Given the description of an element on the screen output the (x, y) to click on. 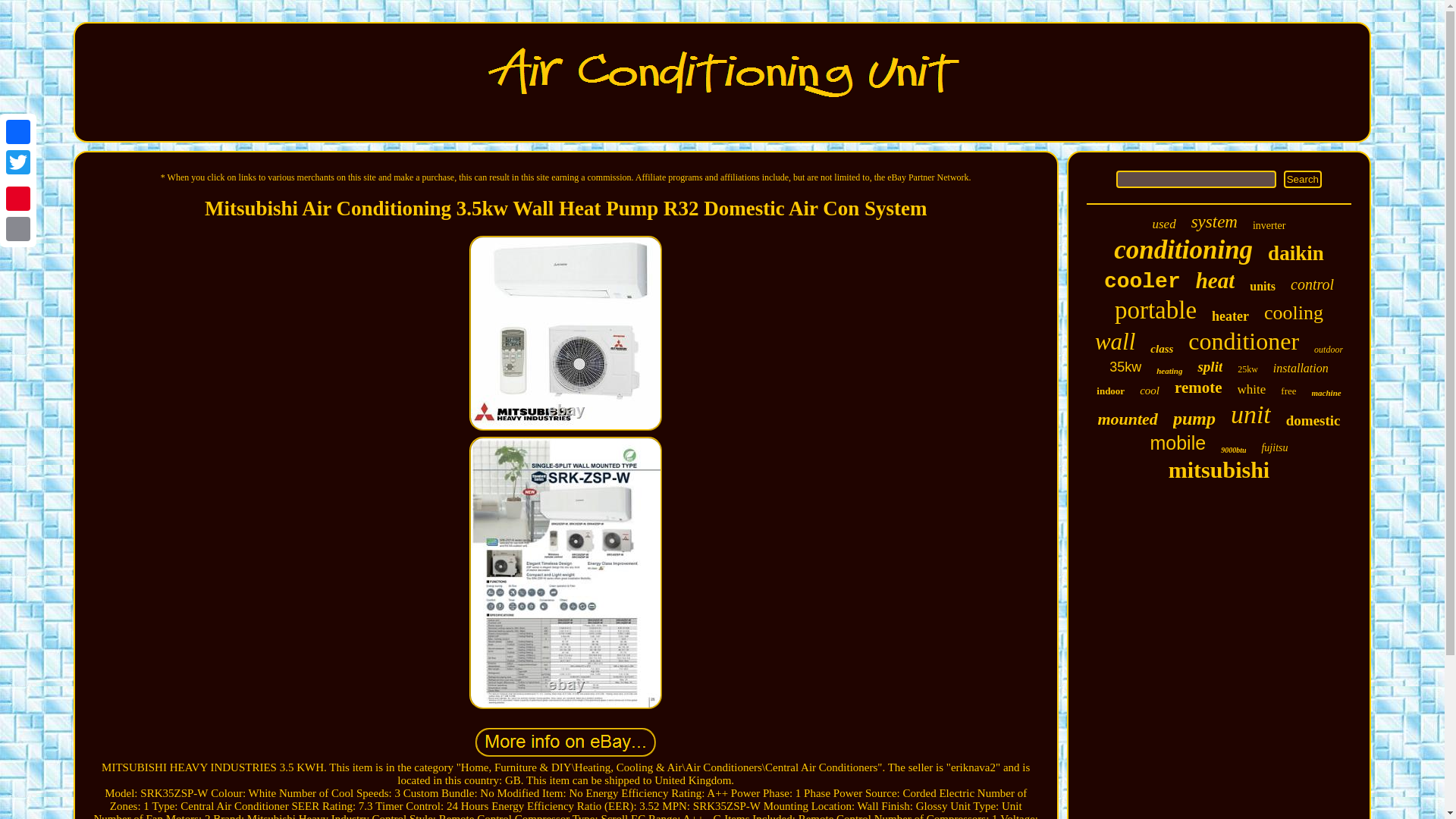
Facebook (17, 132)
used (1162, 224)
wall (1114, 341)
cooling (1293, 313)
Twitter (17, 162)
35kw (1125, 367)
outdoor (1328, 349)
heat (1214, 280)
daikin (1295, 253)
cooler (1141, 281)
system (1214, 221)
Pinterest (17, 198)
indoor (1110, 390)
